Given the description of an element on the screen output the (x, y) to click on. 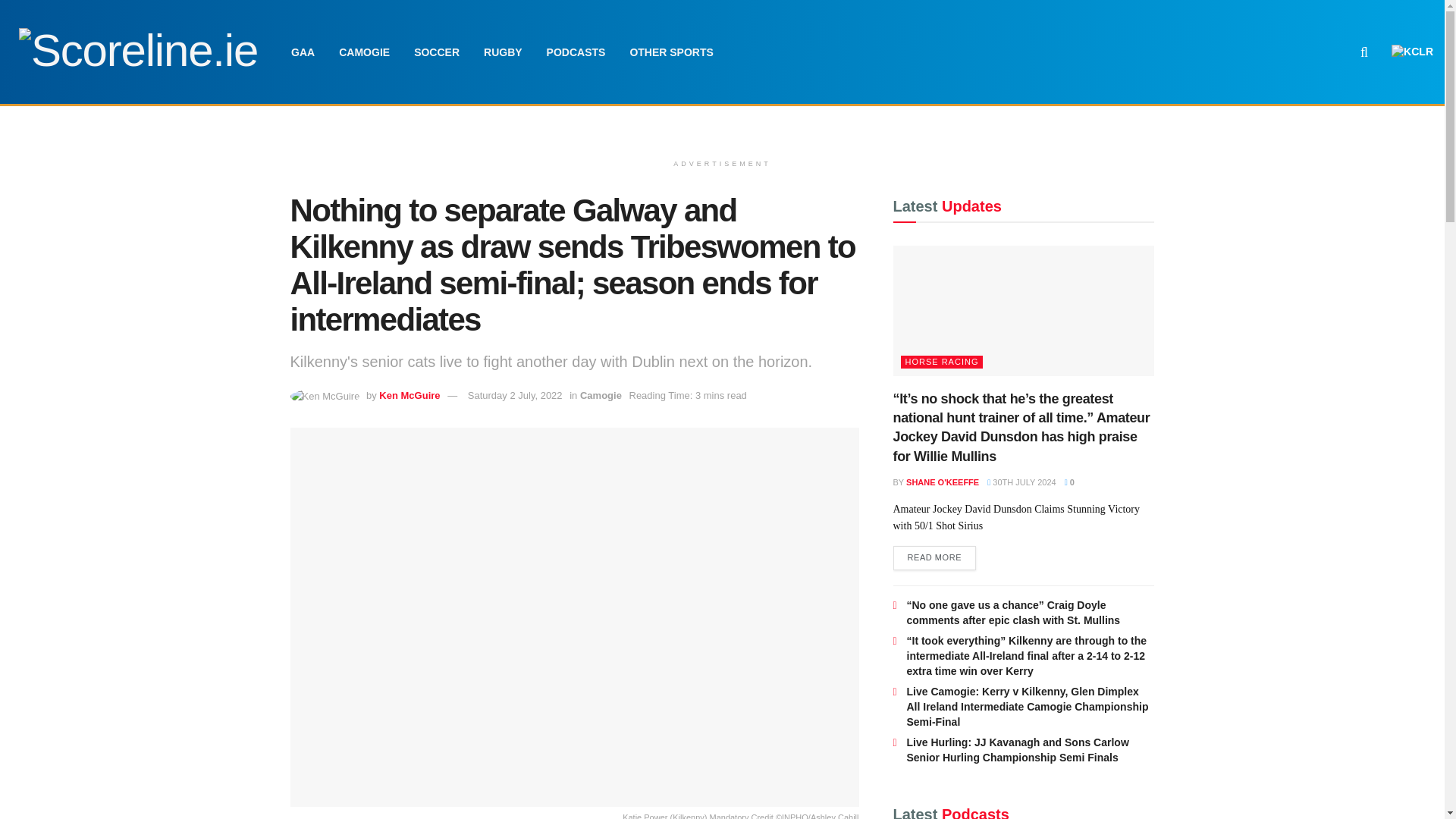
30TH JULY 2024 (1021, 481)
HORSE RACING (942, 361)
SHANE O'KEEFFE (941, 481)
CAMOGIE (363, 52)
READ MORE (934, 558)
GAA (302, 52)
RUGBY (502, 52)
OTHER SPORTS (671, 52)
SOCCER (436, 52)
PODCASTS (575, 52)
Ken McGuire (408, 395)
0 (1069, 481)
Camogie (600, 395)
